Given the description of an element on the screen output the (x, y) to click on. 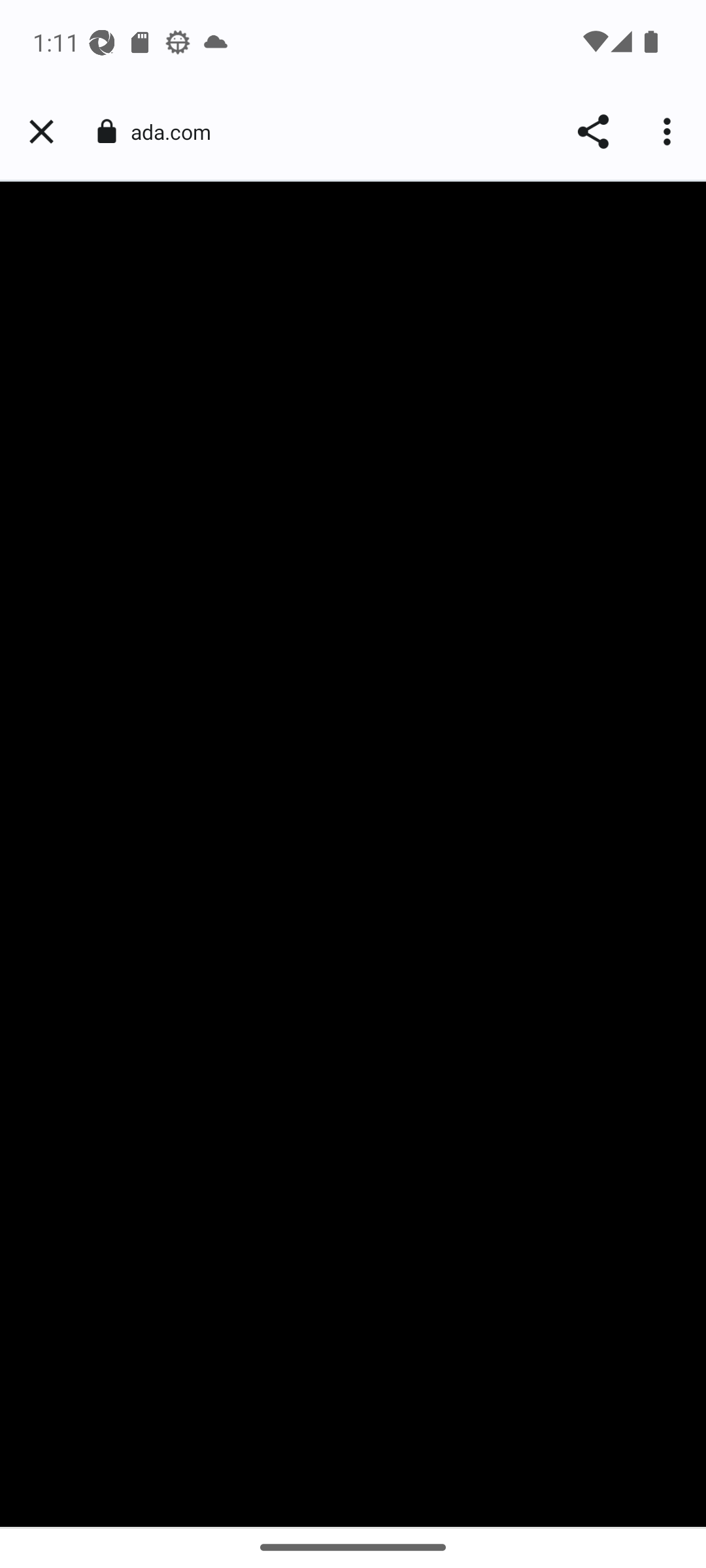
Close tab (41, 131)
Share (592, 131)
More options (669, 131)
Connection is secure (106, 131)
ada.com (177, 131)
